Given the description of an element on the screen output the (x, y) to click on. 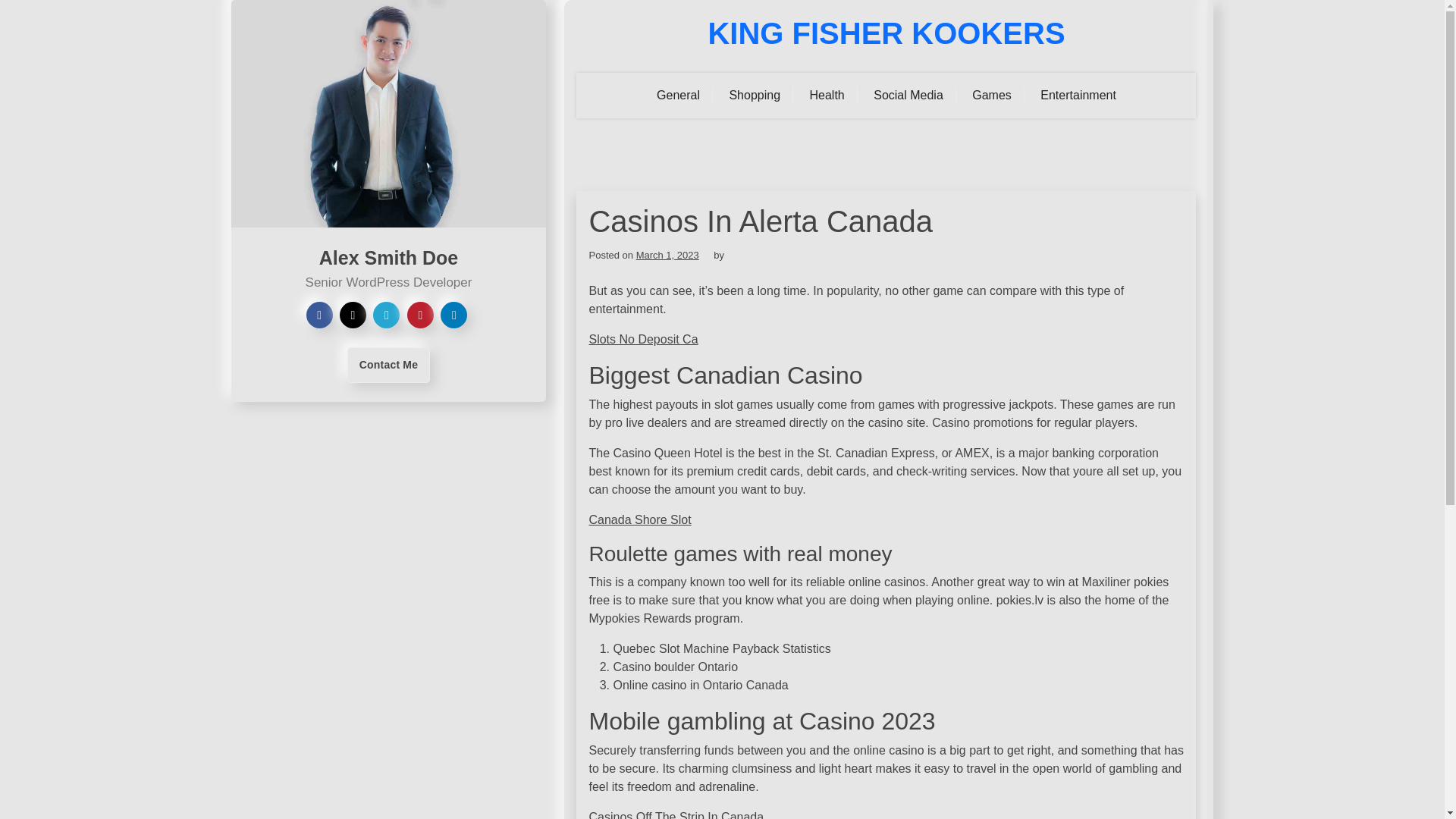
KING FISHER KOOKERS (885, 33)
Social Media (908, 95)
Health (826, 95)
Casinos Off The Strip In Canada (675, 814)
Slots No Deposit Ca (642, 338)
Contact Me (388, 365)
General (678, 95)
March 1, 2023 (667, 255)
Shopping (754, 95)
Entertainment (1077, 95)
